Given the description of an element on the screen output the (x, y) to click on. 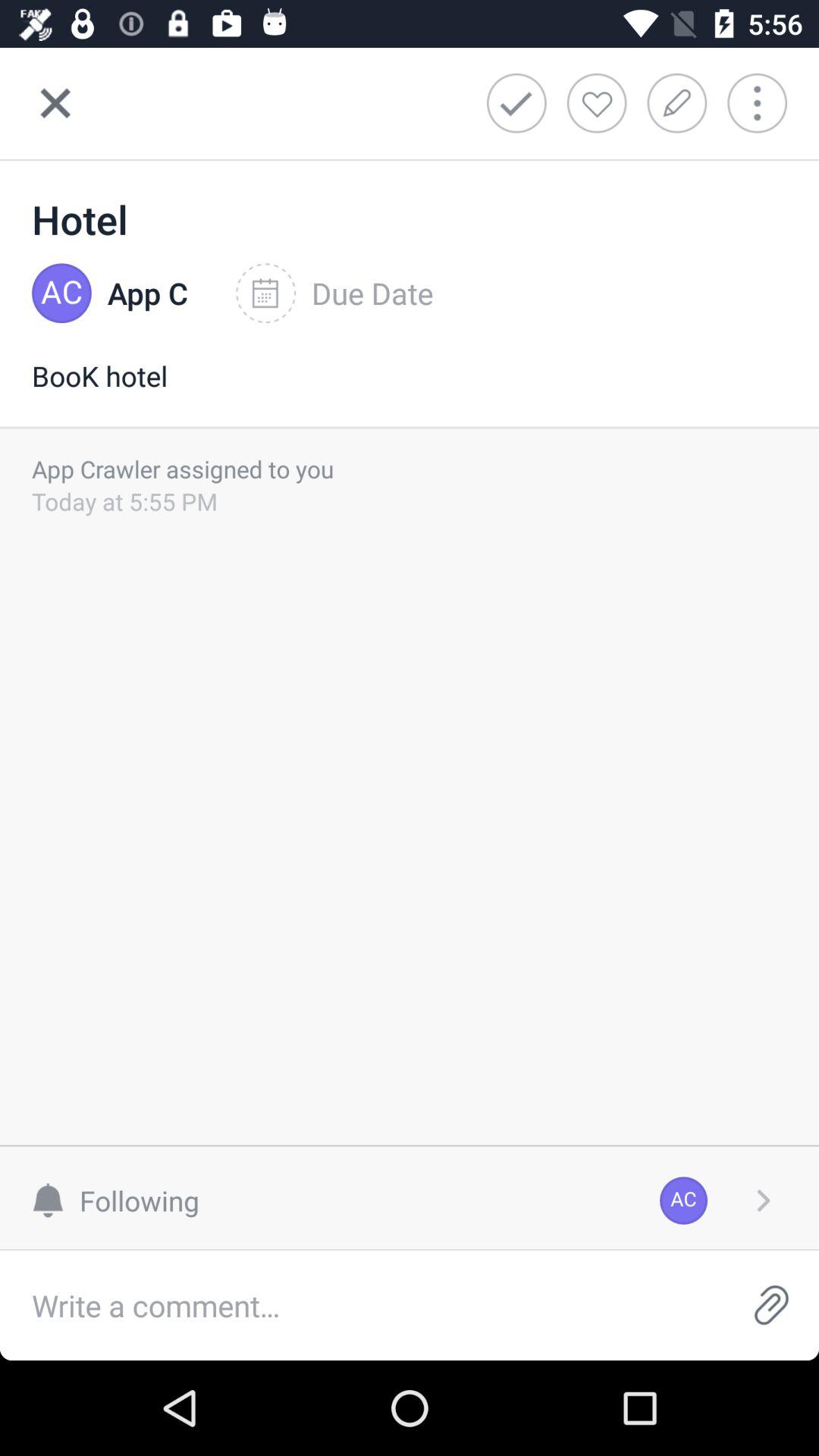
tap item to the right of app c (334, 293)
